Given the description of an element on the screen output the (x, y) to click on. 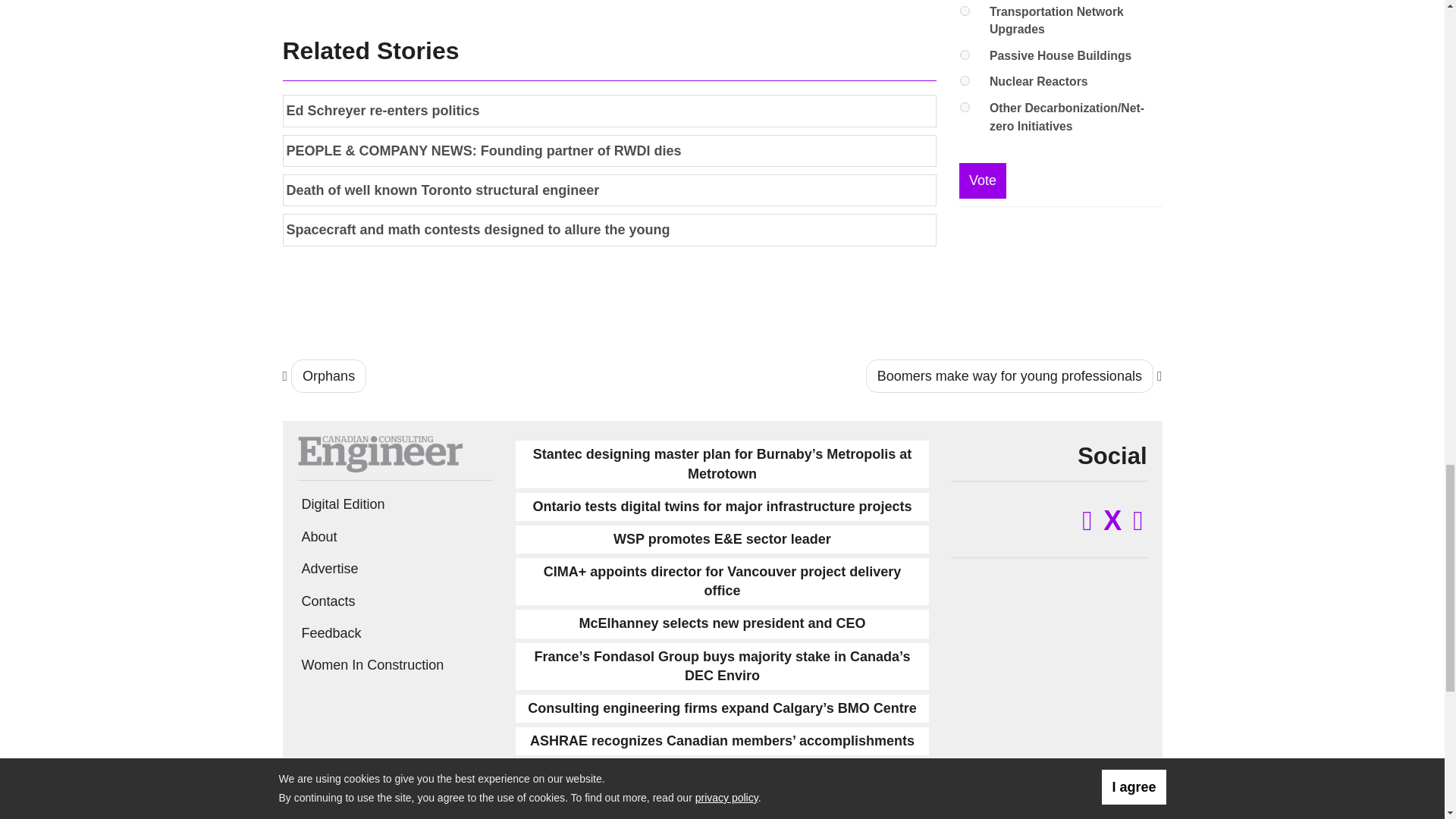
Nuclear Reactors (964, 80)
Transportation Network Upgrades (964, 10)
Vote (982, 180)
Passive House Buildings (964, 54)
Canadian Consulting Engineer (380, 453)
